Given the description of an element on the screen output the (x, y) to click on. 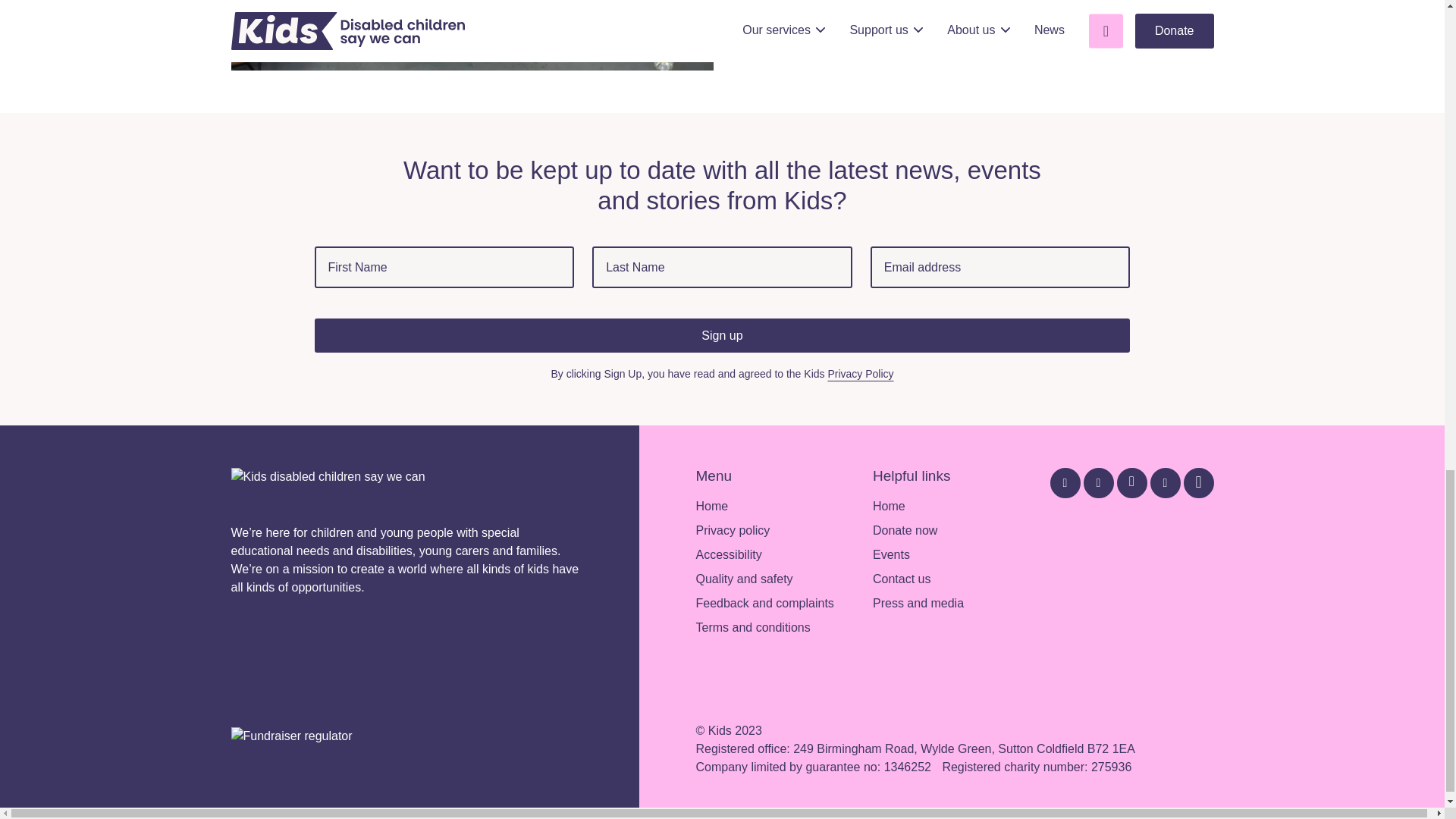
Sign up (721, 335)
